Given the description of an element on the screen output the (x, y) to click on. 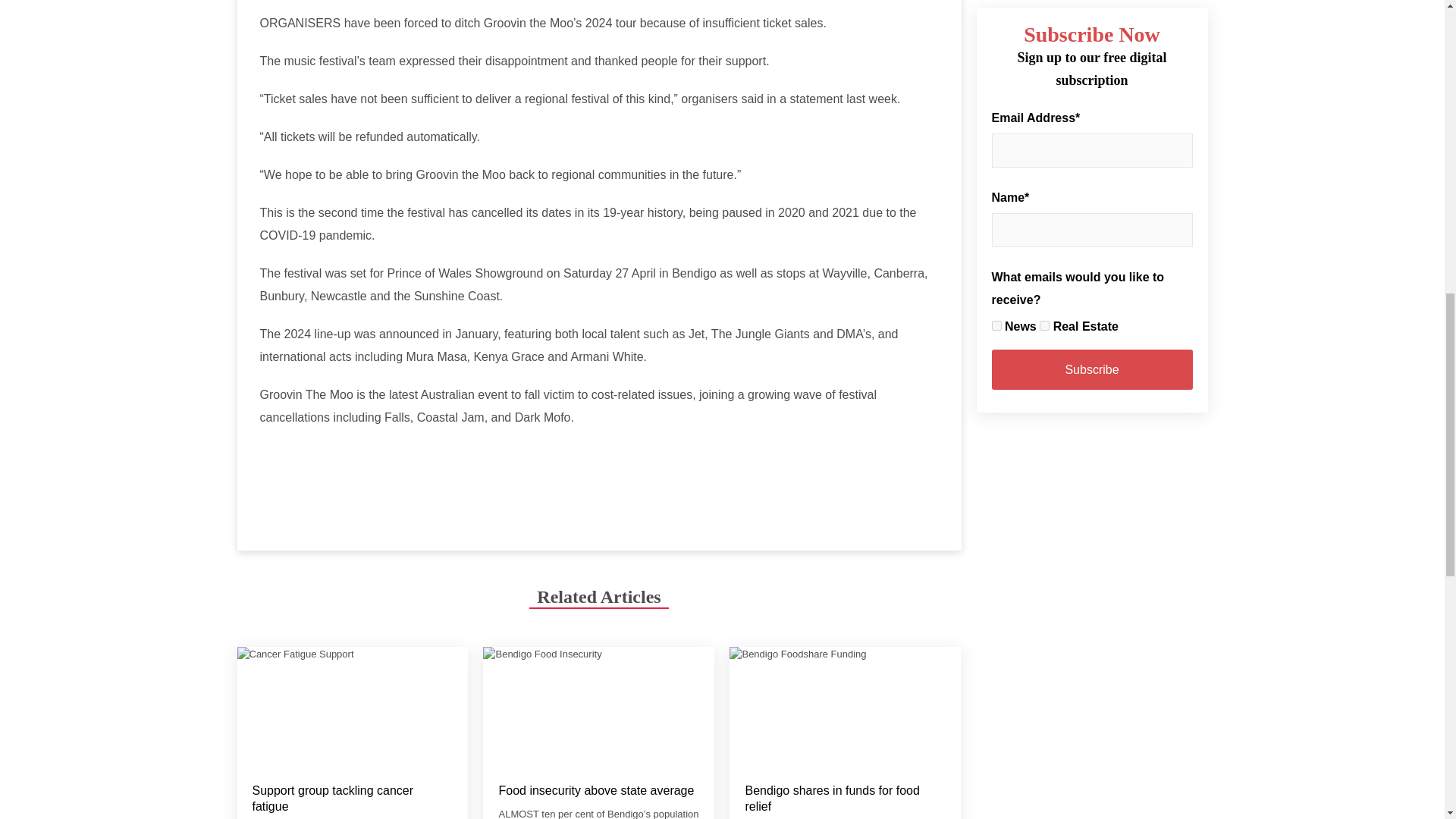
Subscribe (1091, 369)
ad97492dd2 (1044, 325)
234d43c06e (996, 325)
